Given the description of an element on the screen output the (x, y) to click on. 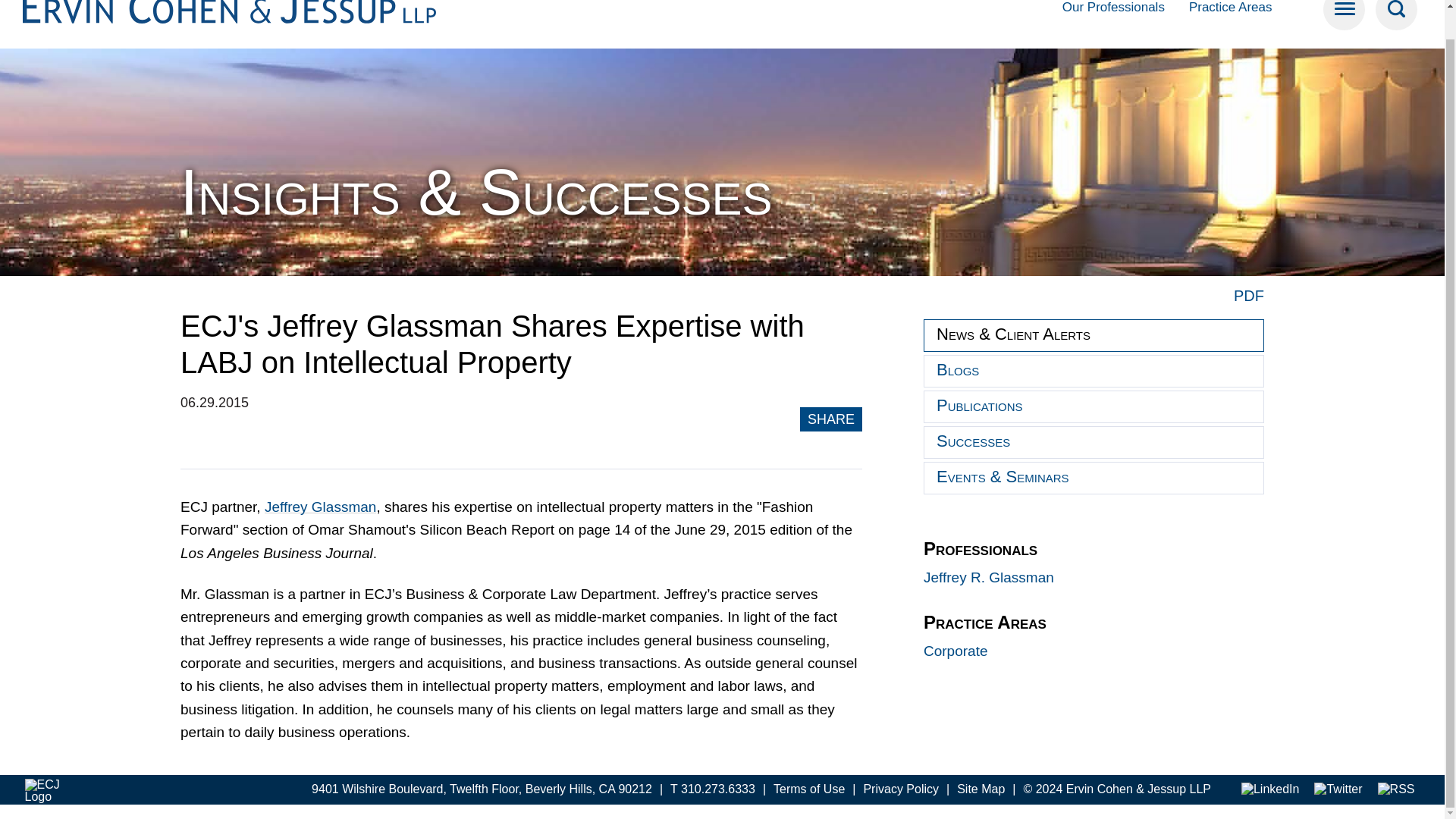
Jeffrey R. Glassman (988, 577)
T 310.273.6333 (712, 788)
Jeffrey Glassman (319, 506)
PDF (1248, 295)
Practice Areas (1230, 9)
Successes (1093, 441)
Blogs (1093, 370)
SHARE (831, 418)
Our Professionals (1113, 9)
Terms of Use (808, 788)
